Given the description of an element on the screen output the (x, y) to click on. 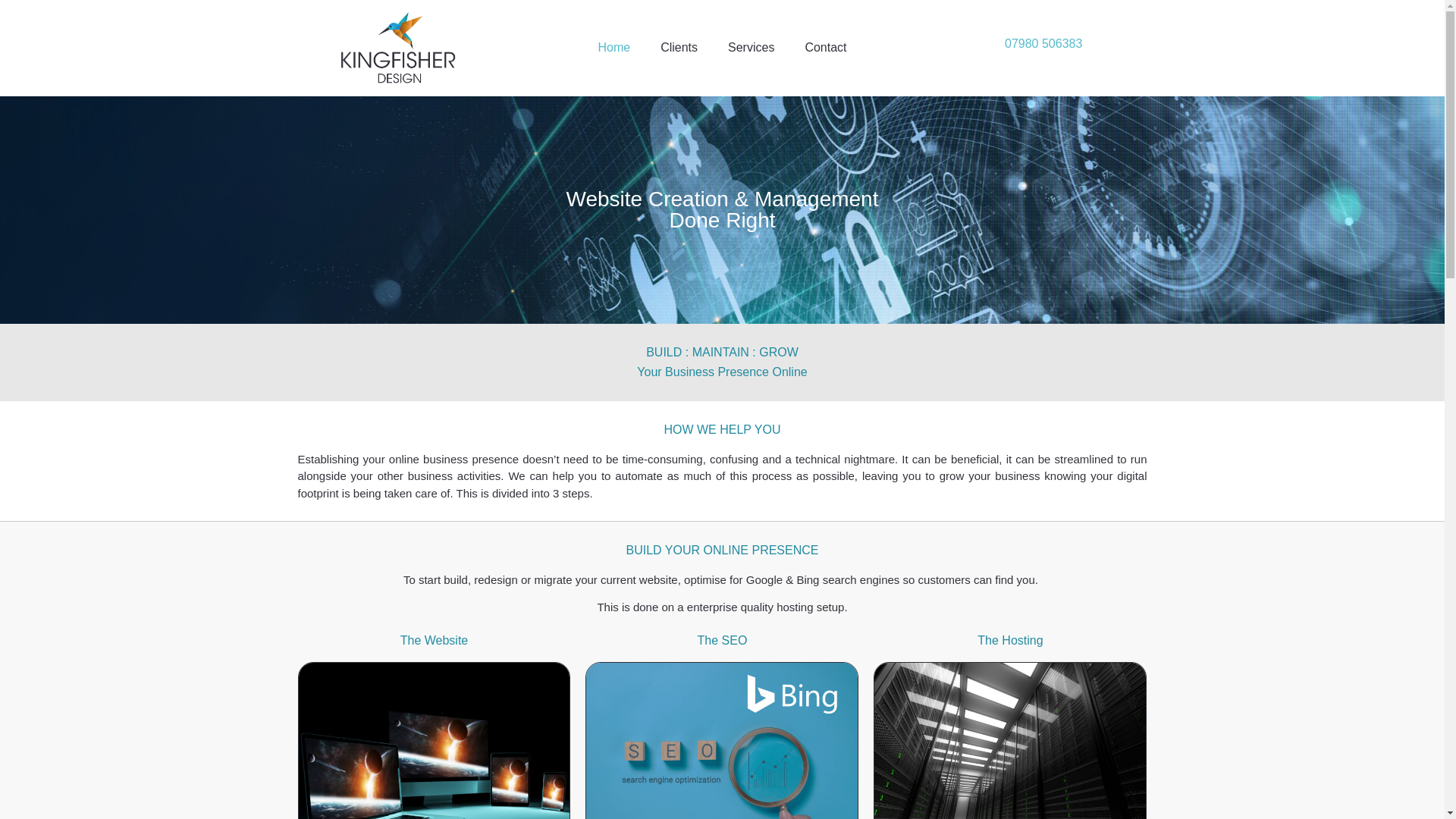
Services (751, 47)
Contact (825, 47)
Clients (679, 47)
Home (613, 47)
